Given the description of an element on the screen output the (x, y) to click on. 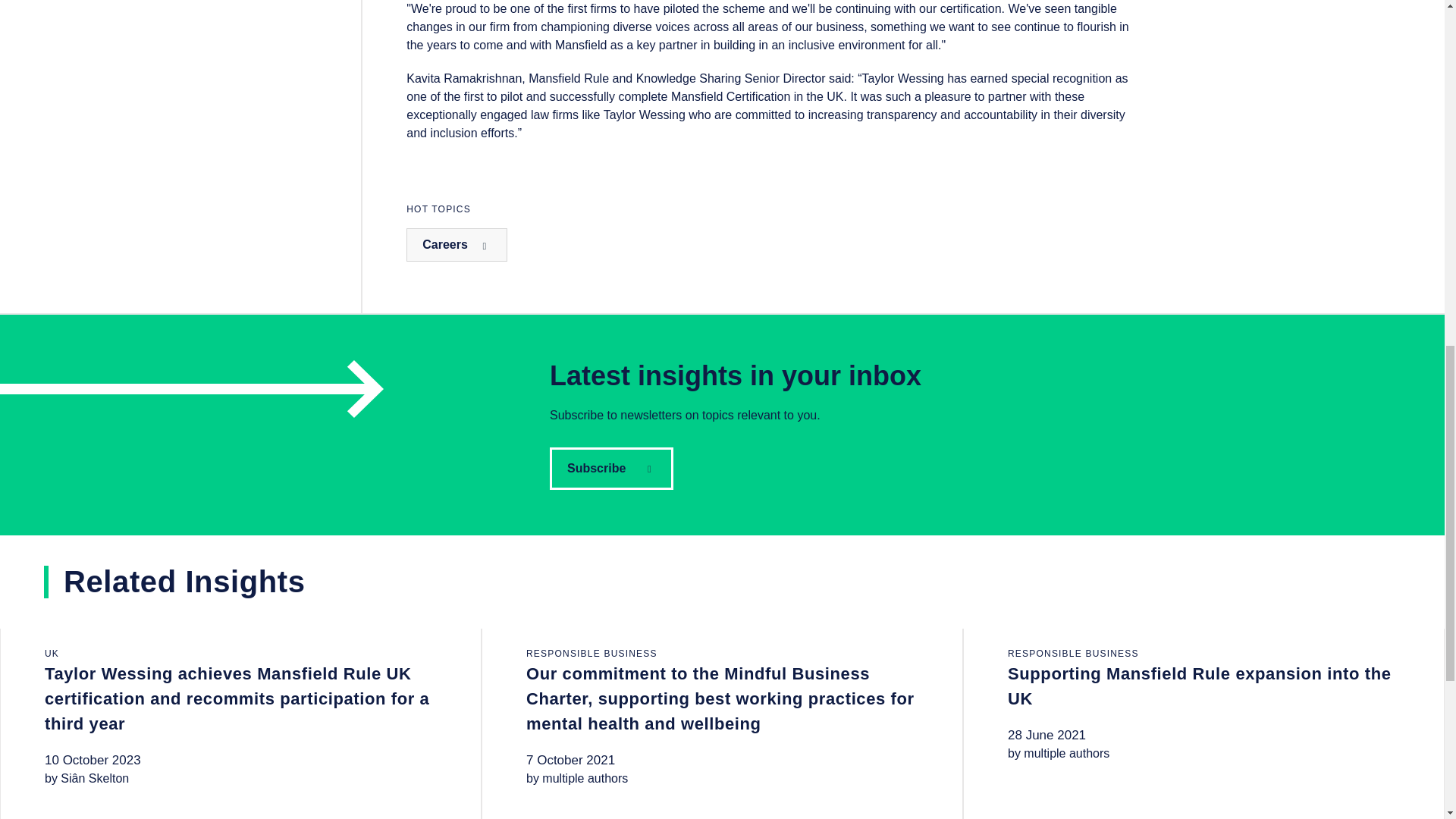
Subscribe (611, 468)
Careers (456, 244)
